Given the description of an element on the screen output the (x, y) to click on. 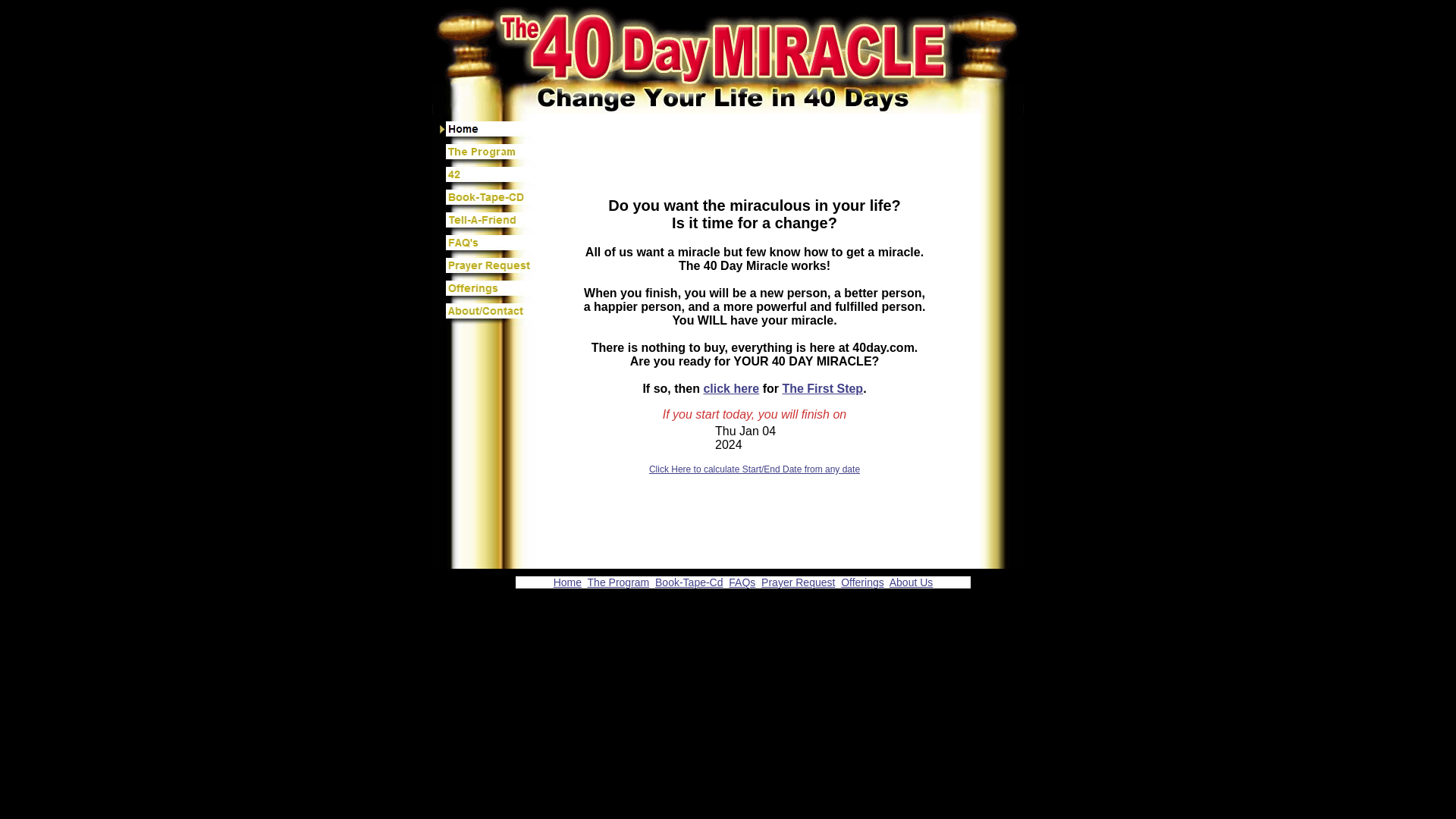
Offerings Element type: text (862, 582)
40-Day-Miracle-head Element type: hover (727, 41)
The Program Element type: text (618, 582)
The Program Element type: hover (488, 155)
Click Here to calculate Start/End Date from any date Element type: text (754, 468)
Book-Tape-CD Element type: hover (488, 200)
42 Element type: hover (488, 177)
Home Element type: text (567, 582)
Home Element type: hover (488, 132)
FAQs Element type: text (741, 582)
FAQ's Element type: hover (488, 246)
click here Element type: text (730, 388)
Offerings Element type: hover (488, 291)
Prayer Request Element type: text (797, 582)
The First Step Element type: text (821, 388)
Book-Tape-Cd Element type: text (689, 582)
About/Contact Element type: hover (488, 314)
Tell-A-Friend Element type: hover (488, 223)
About Us Element type: text (911, 582)
Prayer Request Element type: hover (488, 268)
